Given the description of an element on the screen output the (x, y) to click on. 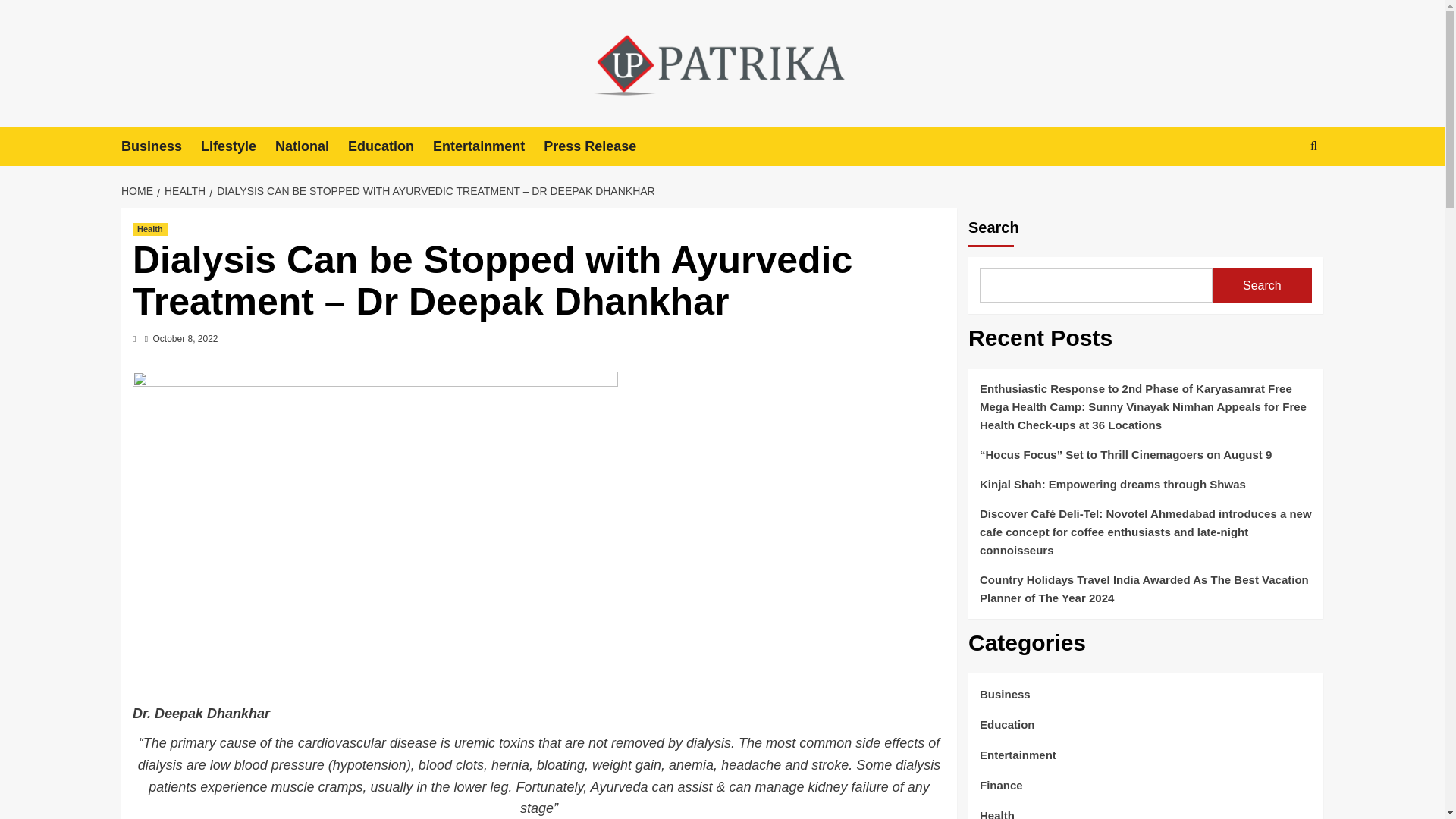
October 8, 2022 (184, 338)
Education (389, 146)
Search (1278, 192)
Search (1261, 285)
Business (160, 146)
Lifestyle (237, 146)
National (311, 146)
HEALTH (183, 191)
Entertainment (487, 146)
HOME (138, 191)
Press Release (599, 146)
Health (149, 228)
